Given the description of an element on the screen output the (x, y) to click on. 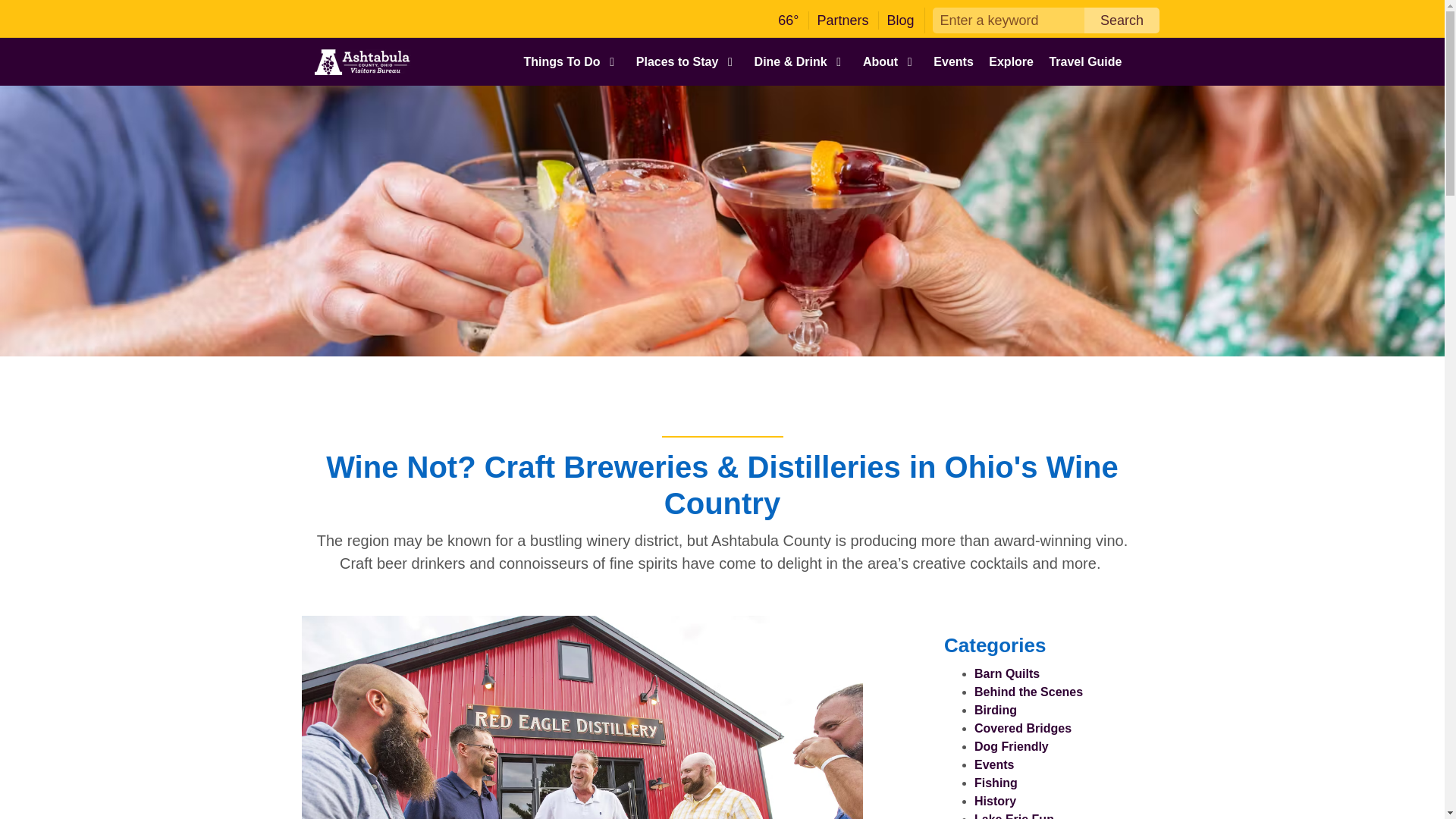
Places to Stay (687, 64)
Ashtabula County Visitors Bureau Logo (362, 62)
Search (1122, 20)
Ashtabula County Visitors Bureau (362, 62)
Things To Do (571, 64)
Search (1122, 20)
Partners (841, 20)
About (890, 64)
Blog (900, 20)
